Given the description of an element on the screen output the (x, y) to click on. 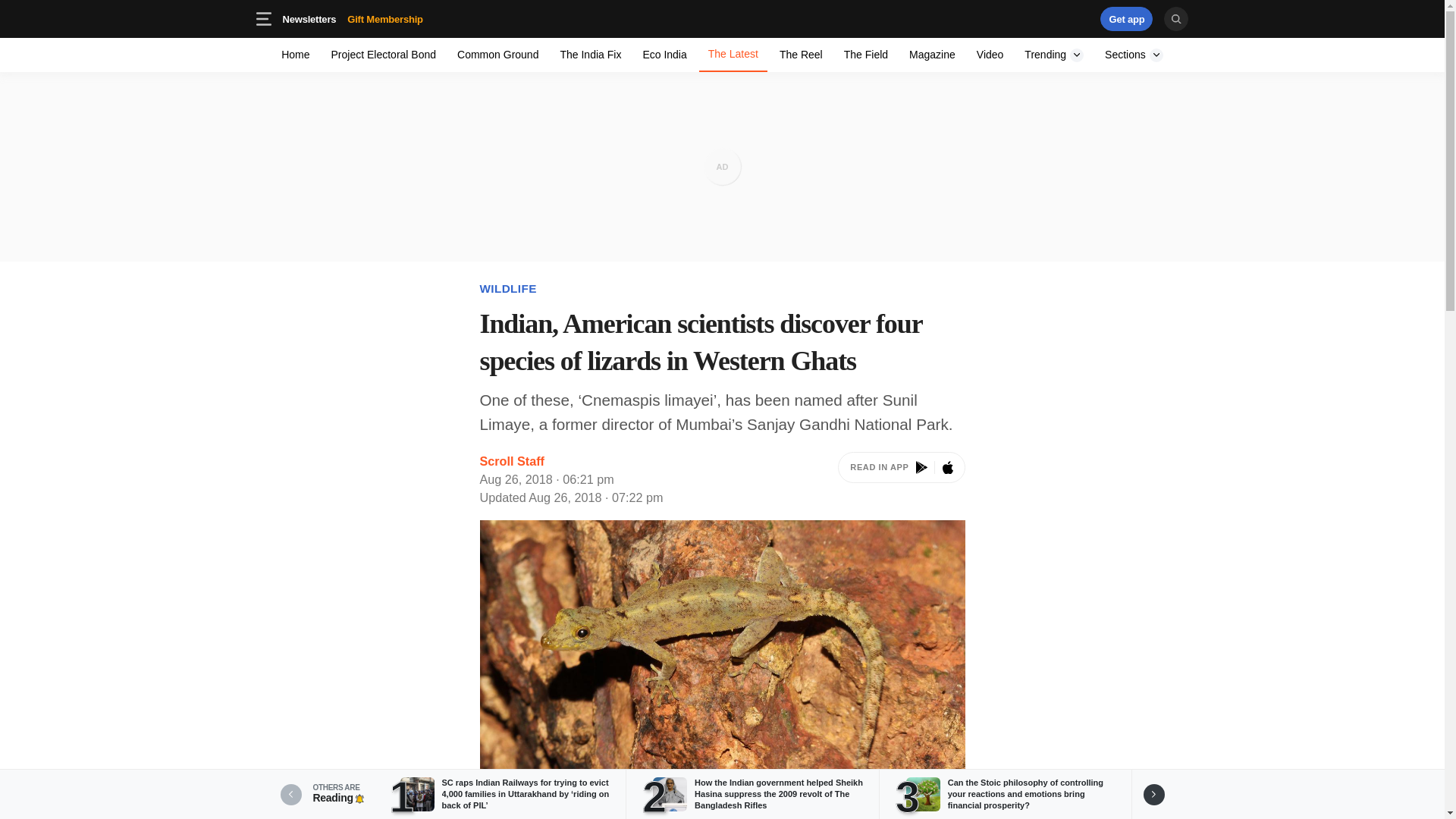
Project Electoral Bond (352, 18)
Get app (383, 54)
Gift Membership (1126, 18)
Get app (385, 18)
READ IN APP (1126, 18)
The India Fix (900, 479)
Magazine (590, 54)
The Reel (931, 54)
Video (409, 18)
Trending (800, 54)
3rd party ad content (990, 54)
Home (1053, 54)
